Given the description of an element on the screen output the (x, y) to click on. 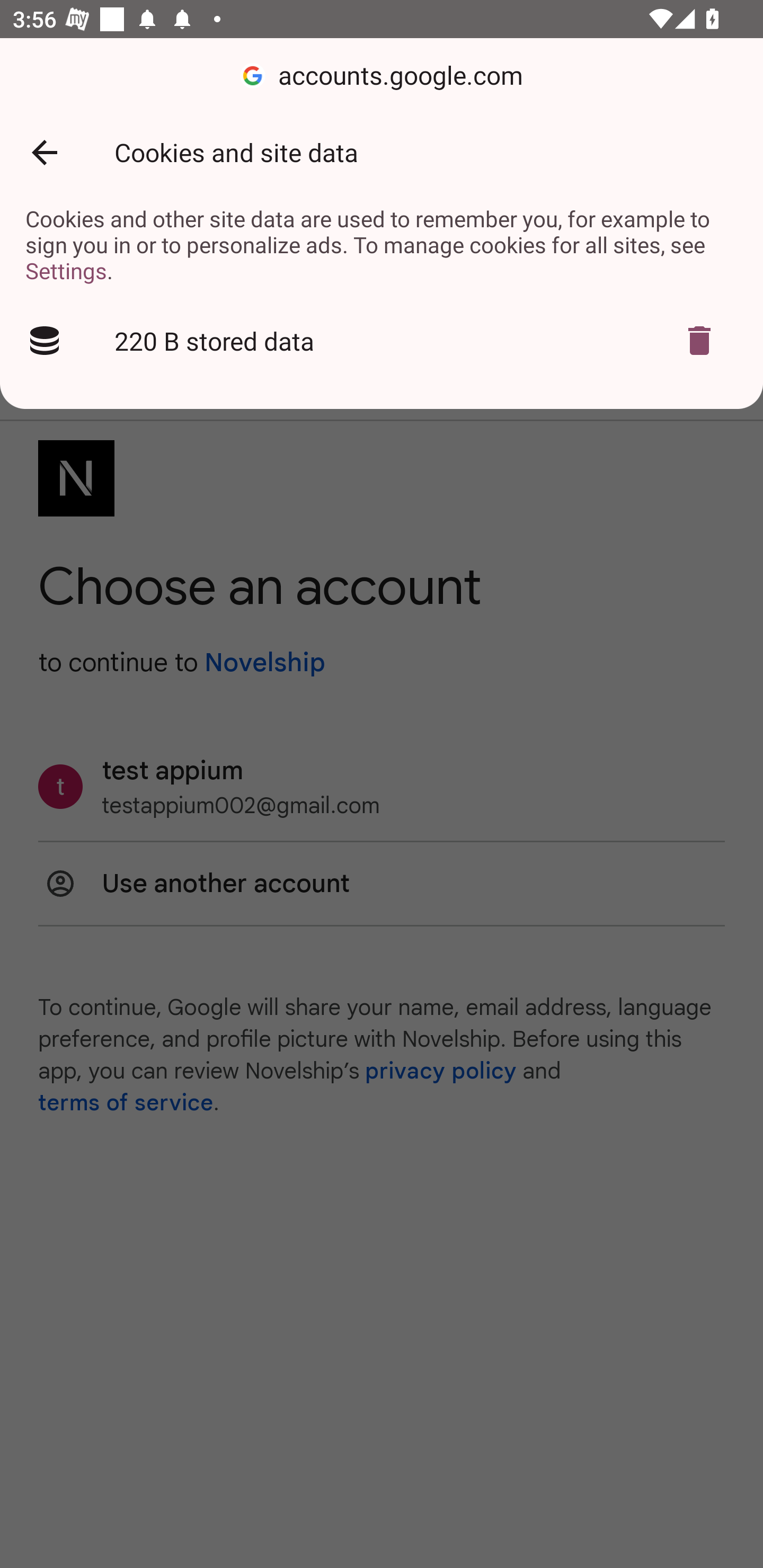
accounts.google.com (381, 75)
Back (44, 152)
220 B stored data Delete cookies? (381, 340)
